Given the description of an element on the screen output the (x, y) to click on. 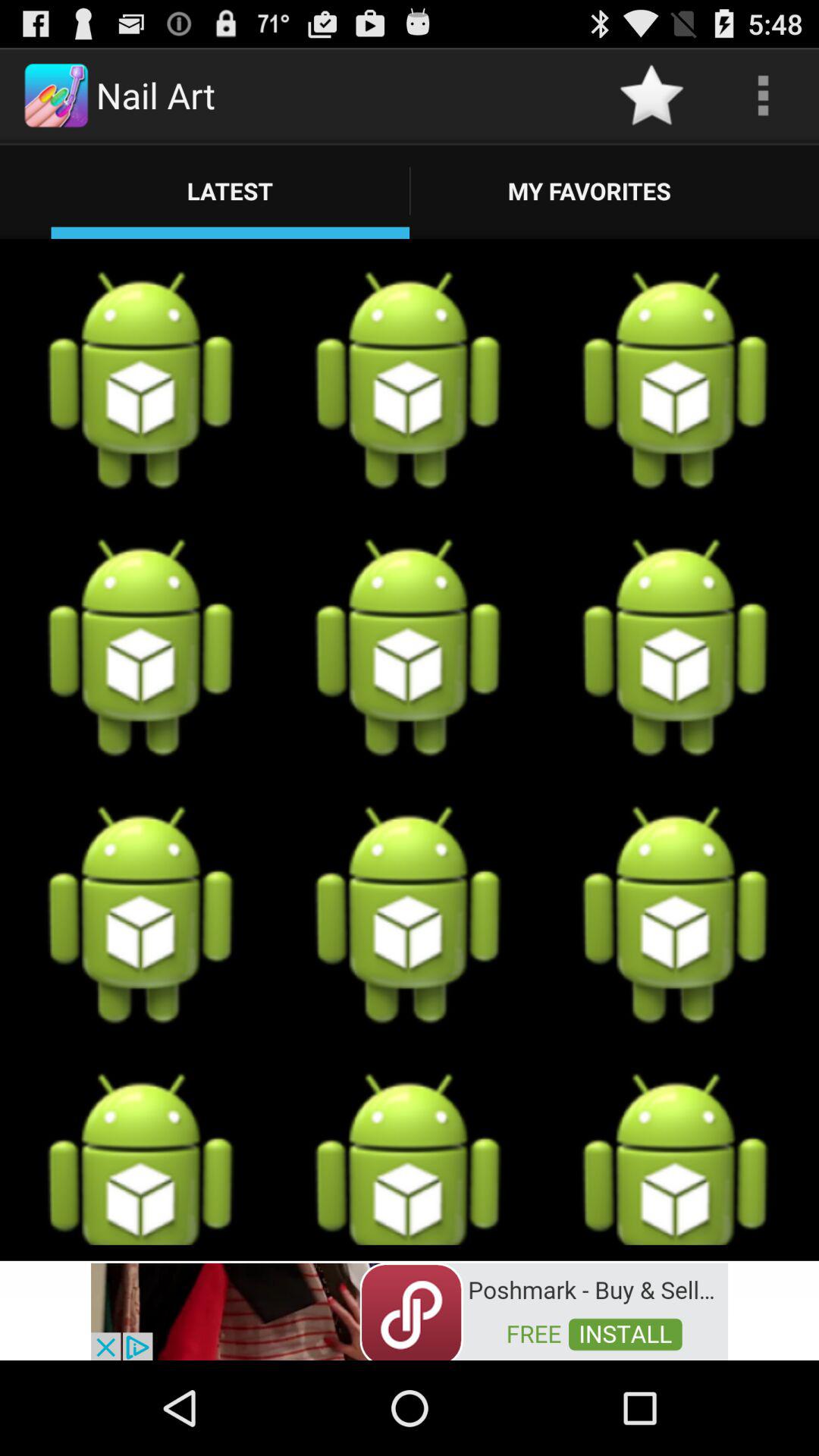
advertisement (409, 1310)
